Given the description of an element on the screen output the (x, y) to click on. 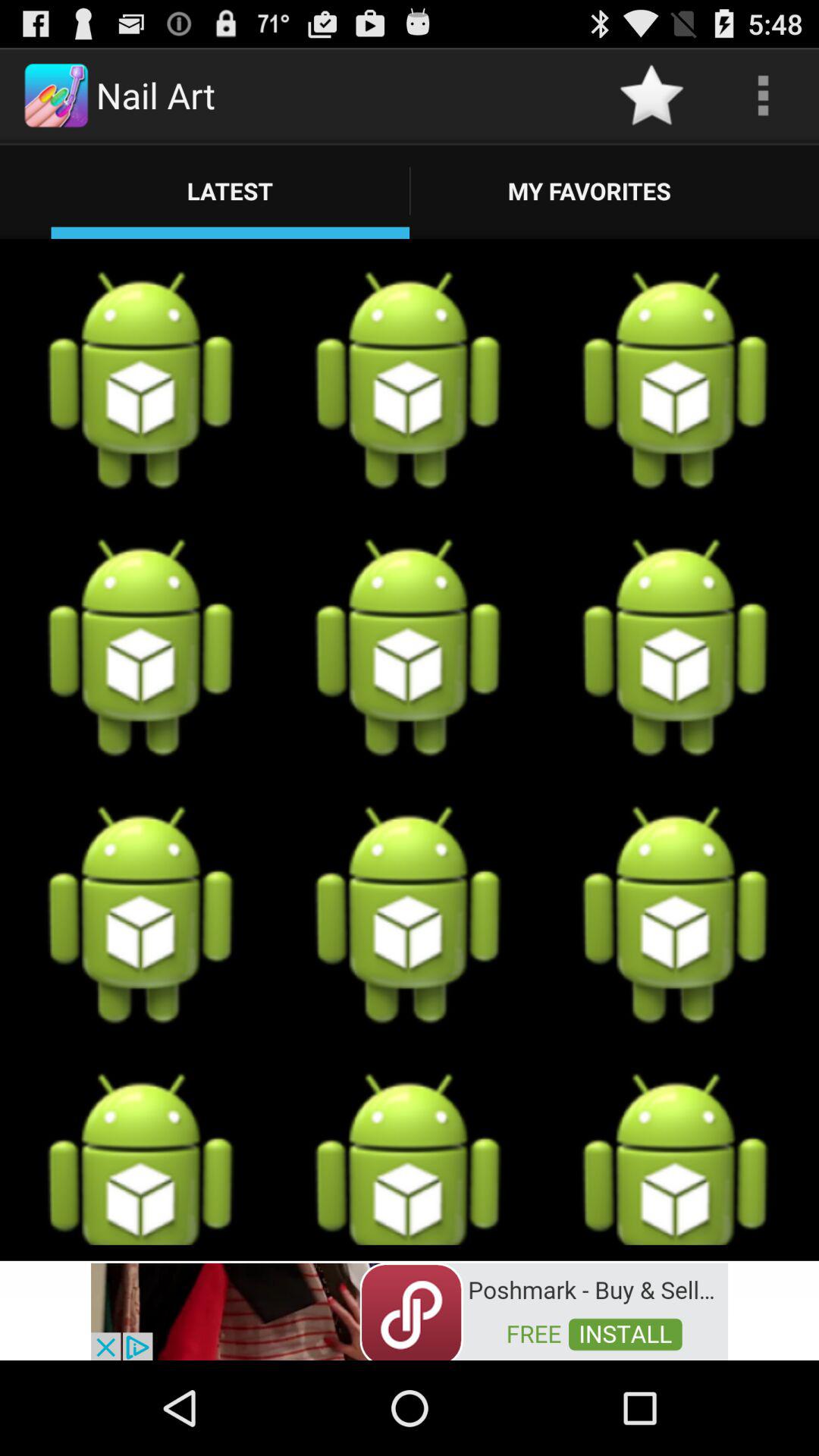
advertisement (409, 1310)
